Given the description of an element on the screen output the (x, y) to click on. 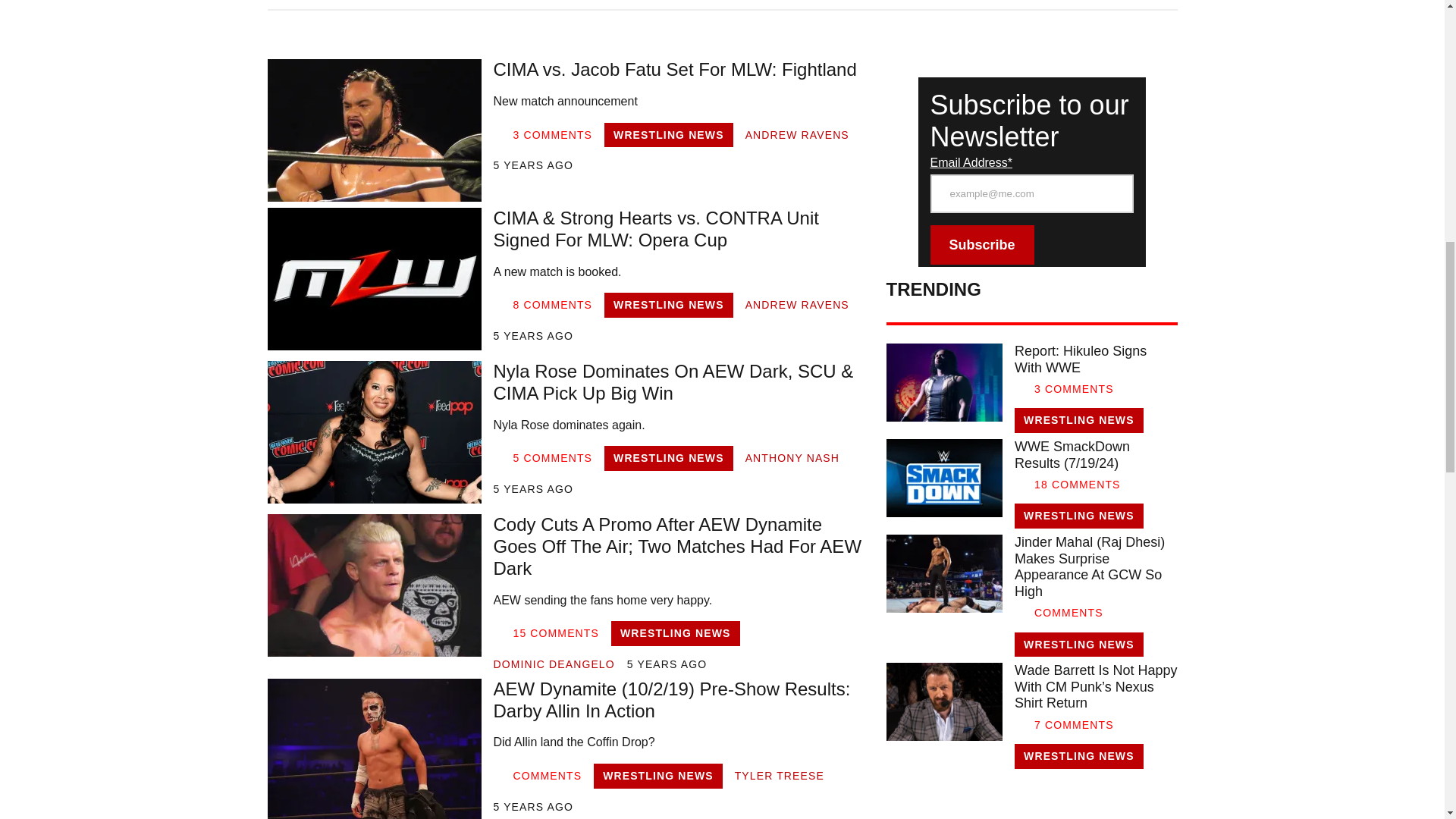
CIMA vs. Jacob Fatu Set For MLW: Fightland (680, 69)
CIMA vs. Jacob Fatu Set For MLW: Fightland (373, 129)
